Given the description of an element on the screen output the (x, y) to click on. 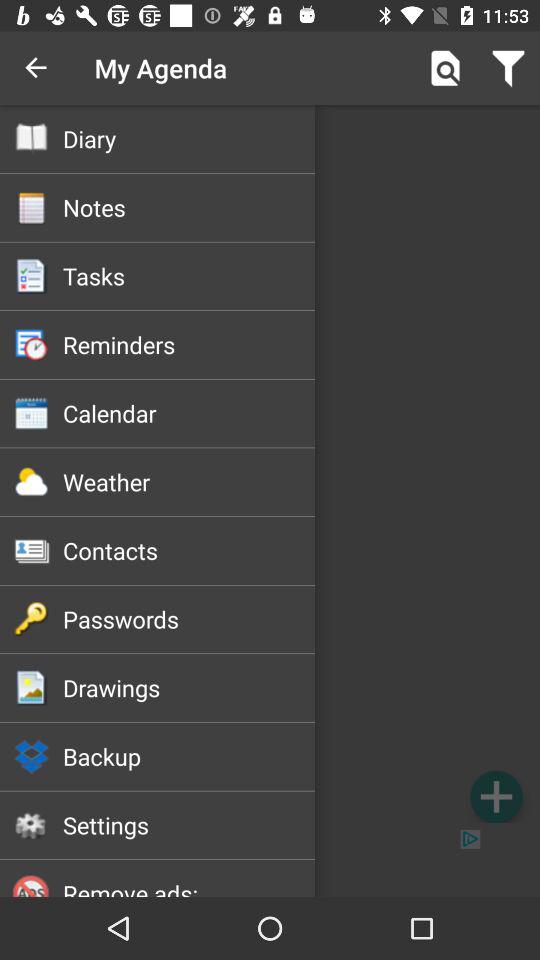
press the icon above the calendar item (188, 344)
